Given the description of an element on the screen output the (x, y) to click on. 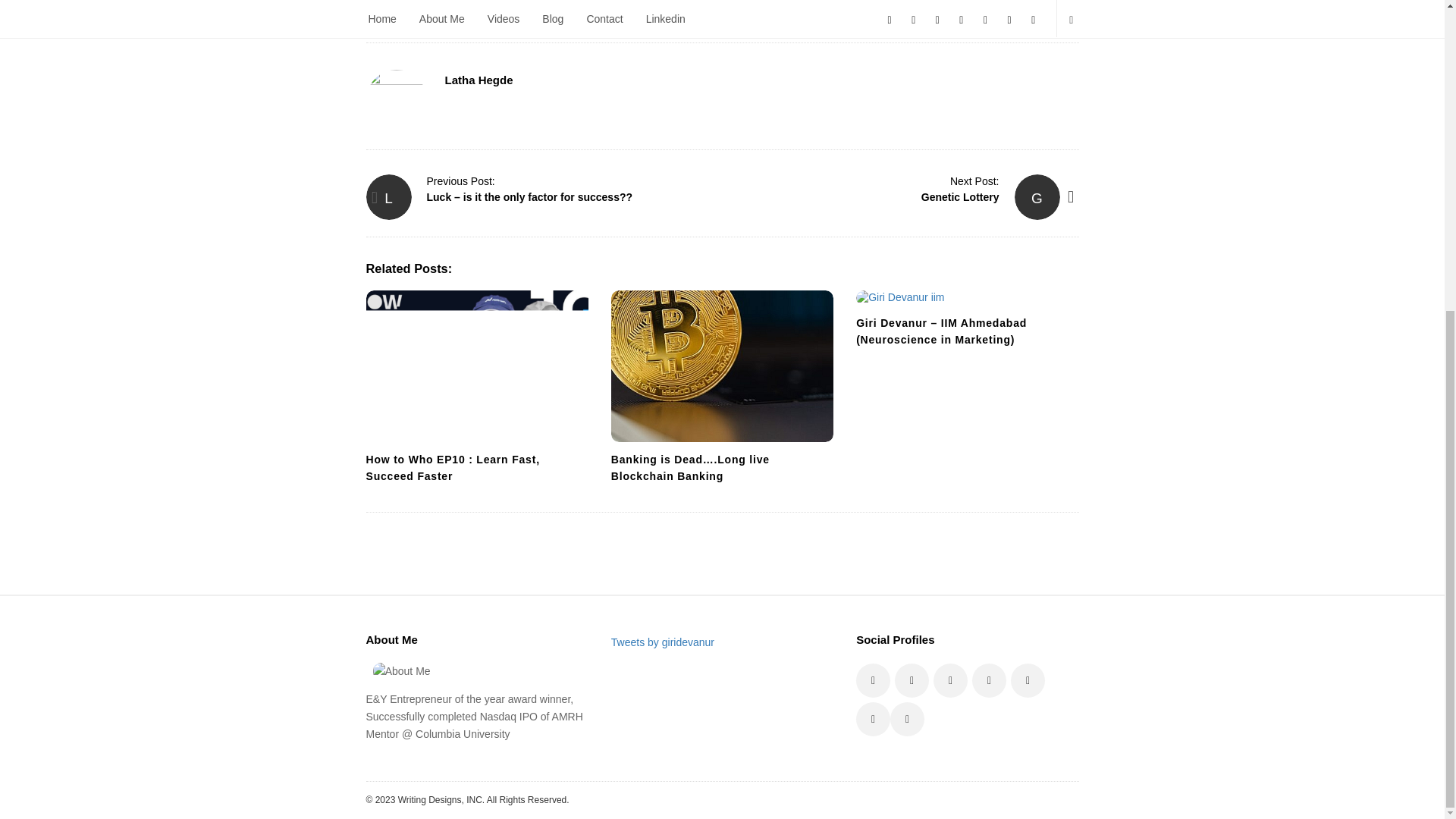
Genetic Lottery (959, 196)
Previous Post: (460, 181)
Latha Hegde (478, 79)
How to Who EP10 : Learn Fast, Succeed Faster (451, 467)
G (1036, 197)
L (387, 197)
Next Post: (974, 181)
